Given the description of an element on the screen output the (x, y) to click on. 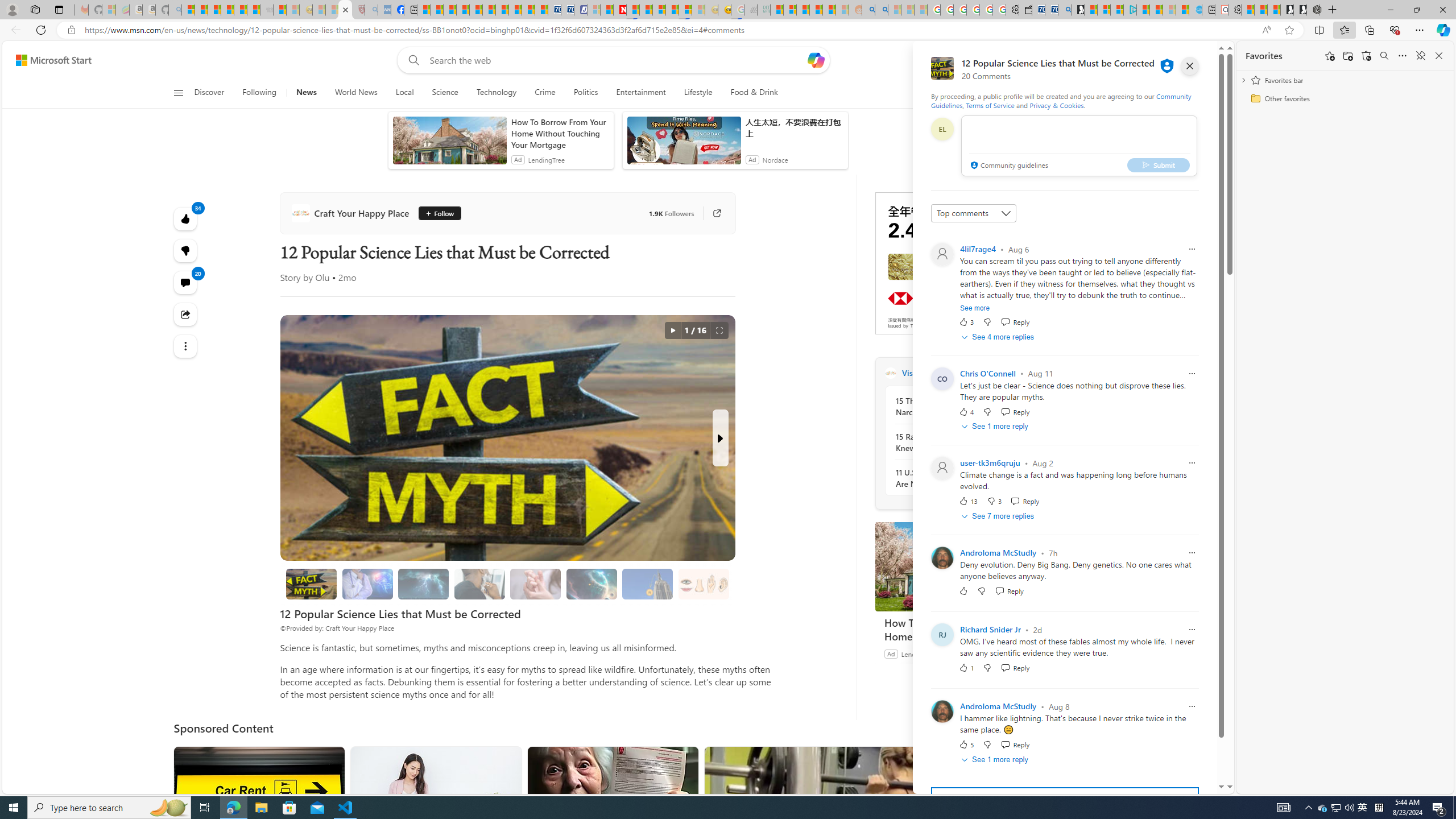
Human Senses (703, 583)
close (1189, 65)
Wallet (1024, 9)
The Weather Channel - MSN (213, 9)
New Report Confirms 2023 Was Record Hot | Watch (239, 9)
Shaving and Hair Growth (479, 583)
user-tk3m6qruju (989, 463)
